Given the description of an element on the screen output the (x, y) to click on. 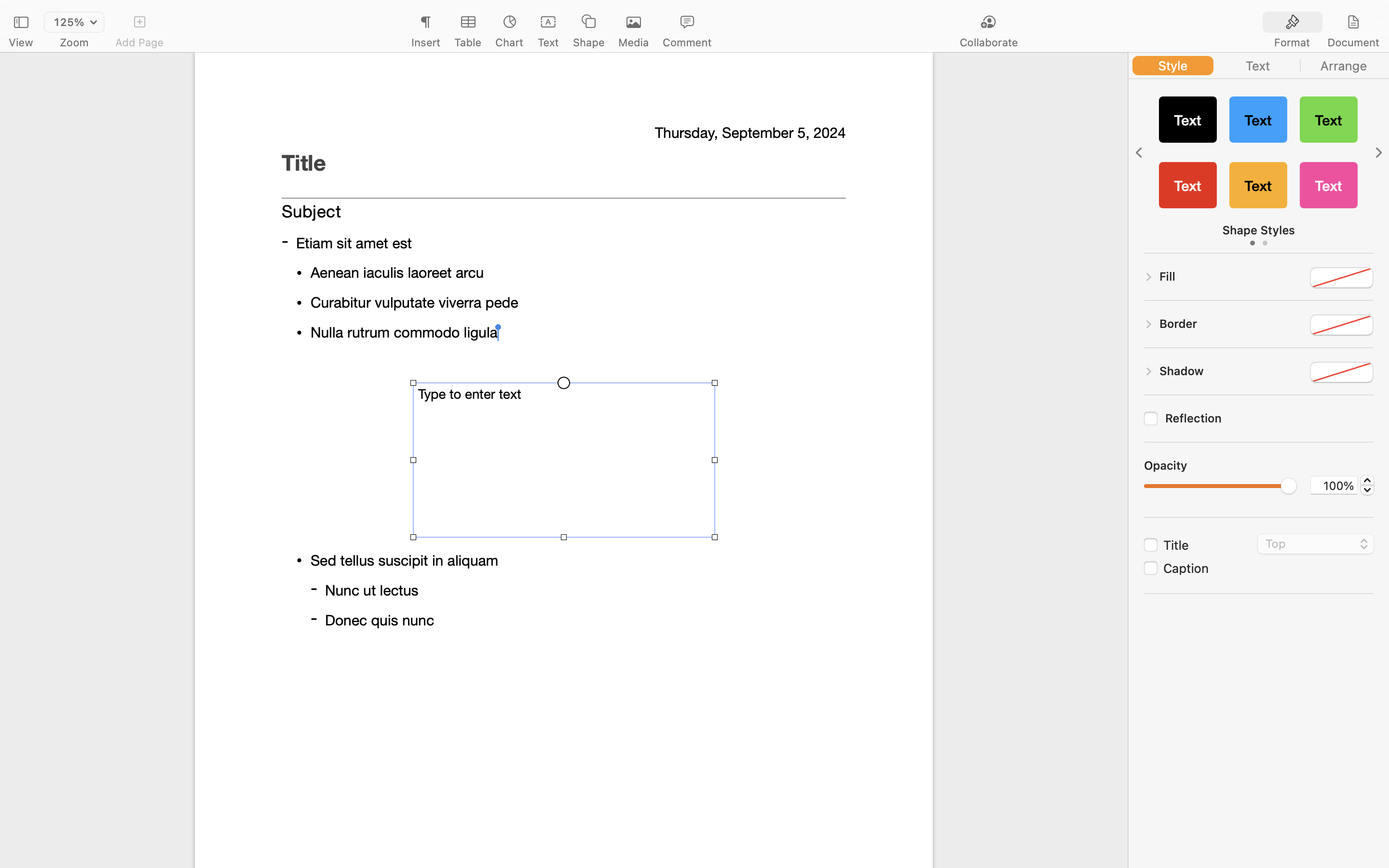
Document Element type: AXStaticText (1352, 42)
100% Element type: AXTextField (1333, 484)
Insert Element type: AXStaticText (425, 42)
View Element type: AXStaticText (20, 42)
